Given the description of an element on the screen output the (x, y) to click on. 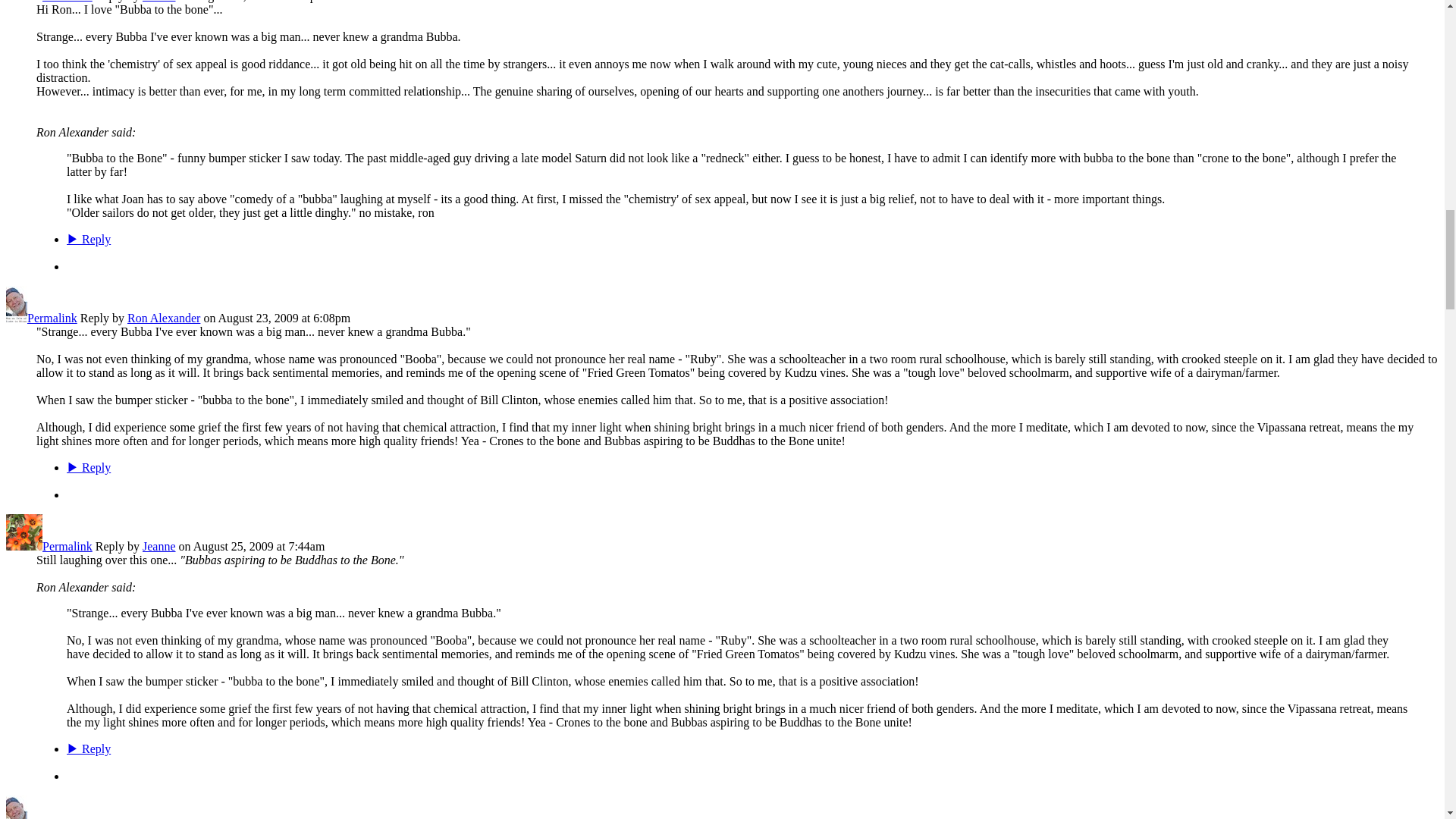
Permalink to this Reply (67, 1)
Permalink to this Reply (67, 545)
Permalink to this Reply (52, 318)
Ron Alexander (16, 318)
Jeanne (23, 545)
Jeanne (23, 1)
